Given the description of an element on the screen output the (x, y) to click on. 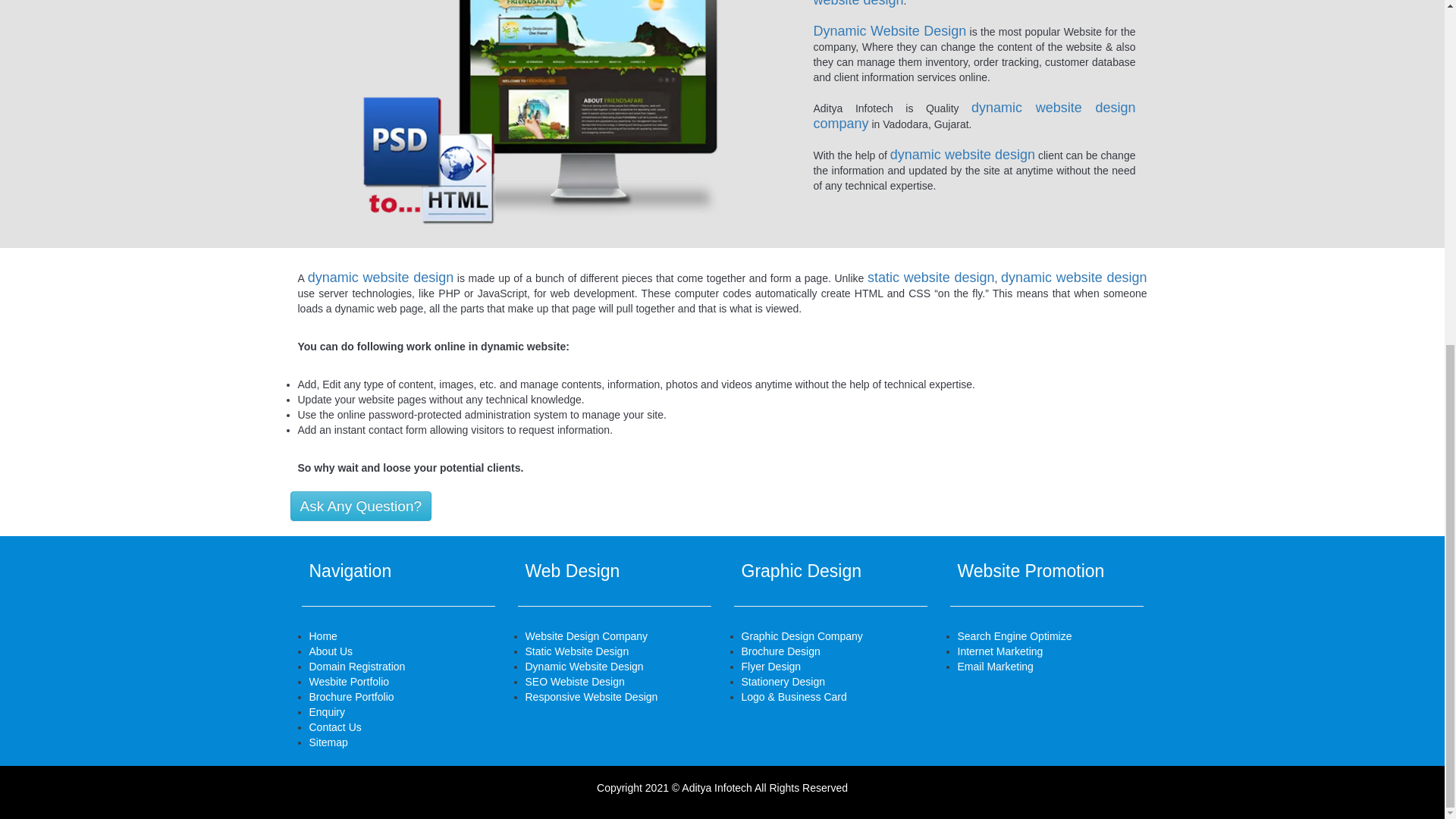
static website design (930, 277)
Sitemap (327, 742)
Dynamic Website Design (583, 666)
Home (322, 635)
Website Design Company (585, 635)
Domain Registration (357, 666)
Enquiry (326, 711)
Ask Any Question? (360, 505)
Wesbite Portfolio (349, 681)
Static Website Design (576, 651)
About Us (330, 651)
Dynamic Website Design (542, 115)
Brochure Portfolio (351, 696)
Contact Us (334, 727)
SEO Webiste Design (574, 681)
